Given the description of an element on the screen output the (x, y) to click on. 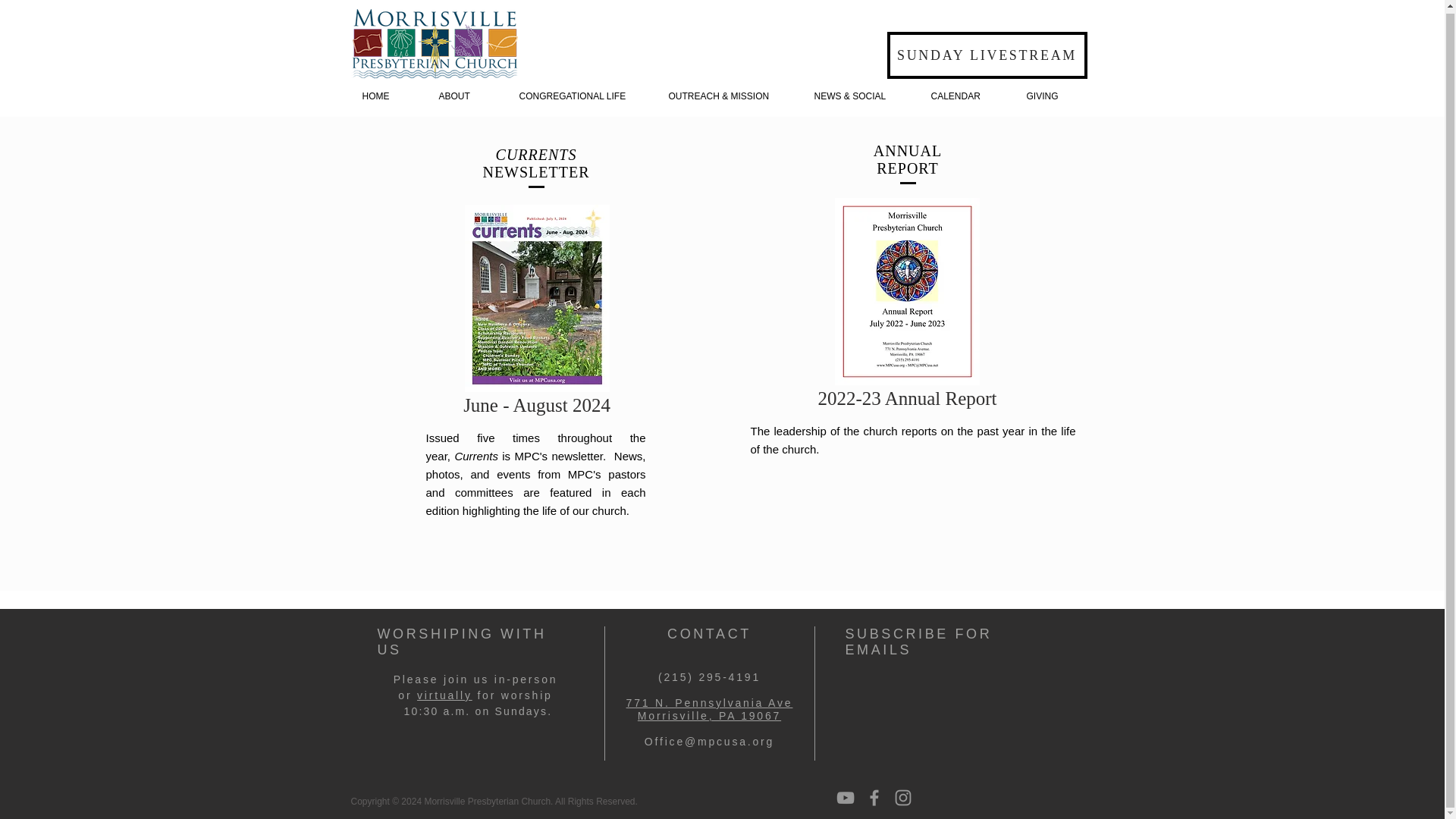
2022-23 Annual Report (907, 306)
SUNDAY LIVESTREAM (986, 54)
HOME (709, 708)
June - August 2024 (388, 95)
2022-23 Annual Report (536, 313)
CALENDAR (907, 306)
GIVING (966, 95)
June - August 2024 (1053, 95)
virtually (536, 313)
